Given the description of an element on the screen output the (x, y) to click on. 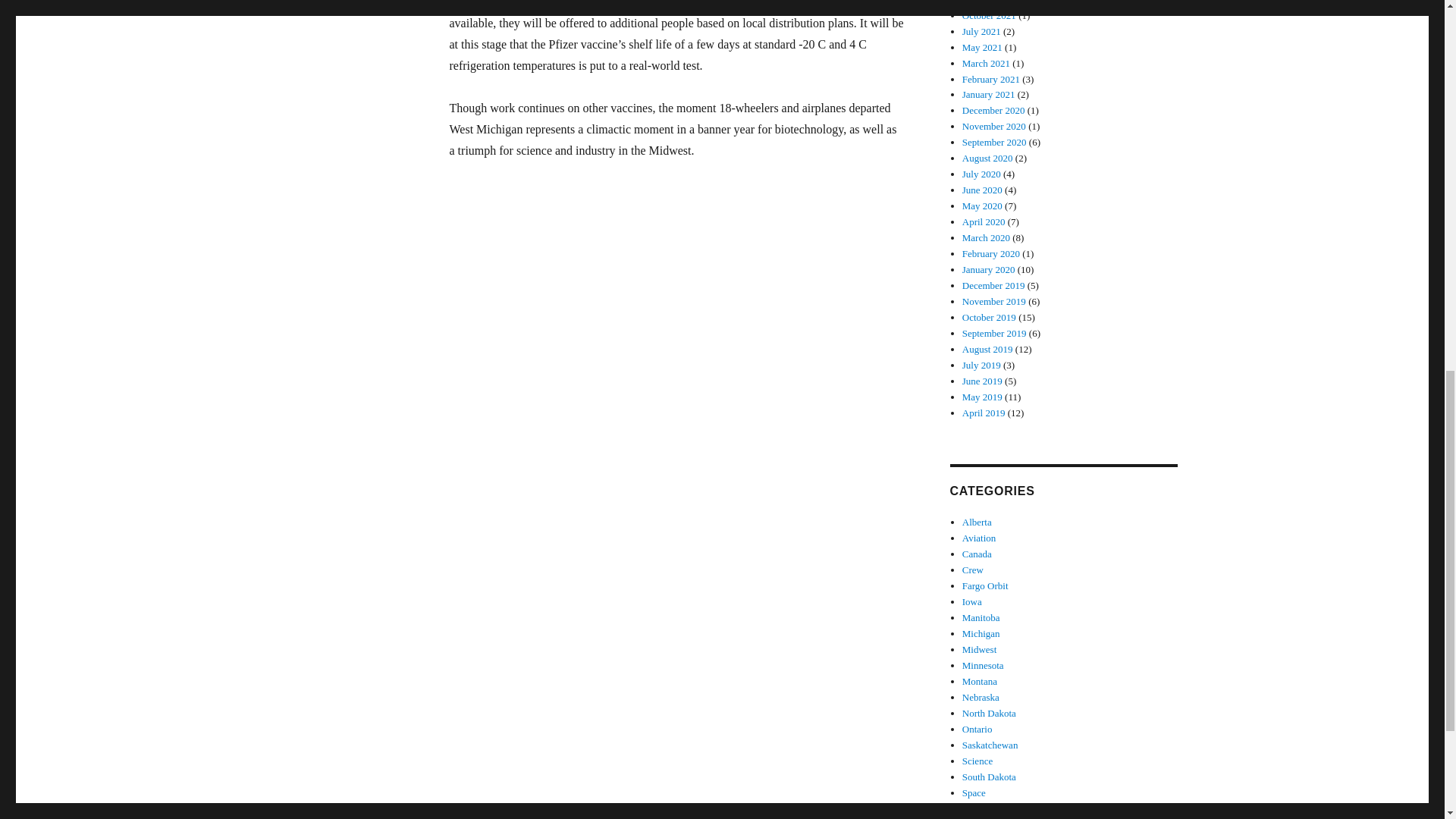
March 2021 (986, 62)
July 2021 (981, 30)
February 2021 (991, 78)
January 2021 (988, 93)
December 2020 (993, 110)
December 2021 (993, 2)
May 2021 (982, 47)
October 2021 (989, 15)
